Given the description of an element on the screen output the (x, y) to click on. 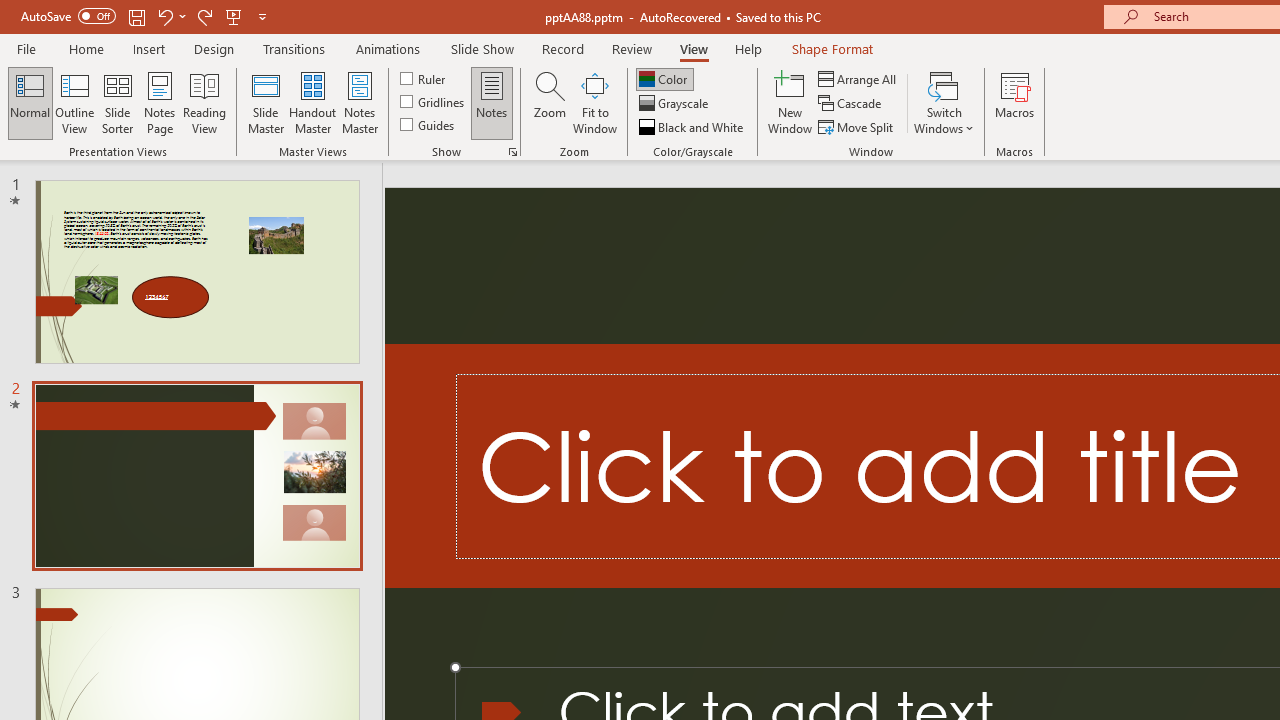
Guides (428, 124)
Macros (1014, 102)
Move Split (857, 126)
Slide Master (265, 102)
Fit to Window (594, 102)
Notes Page (159, 102)
